Given the description of an element on the screen output the (x, y) to click on. 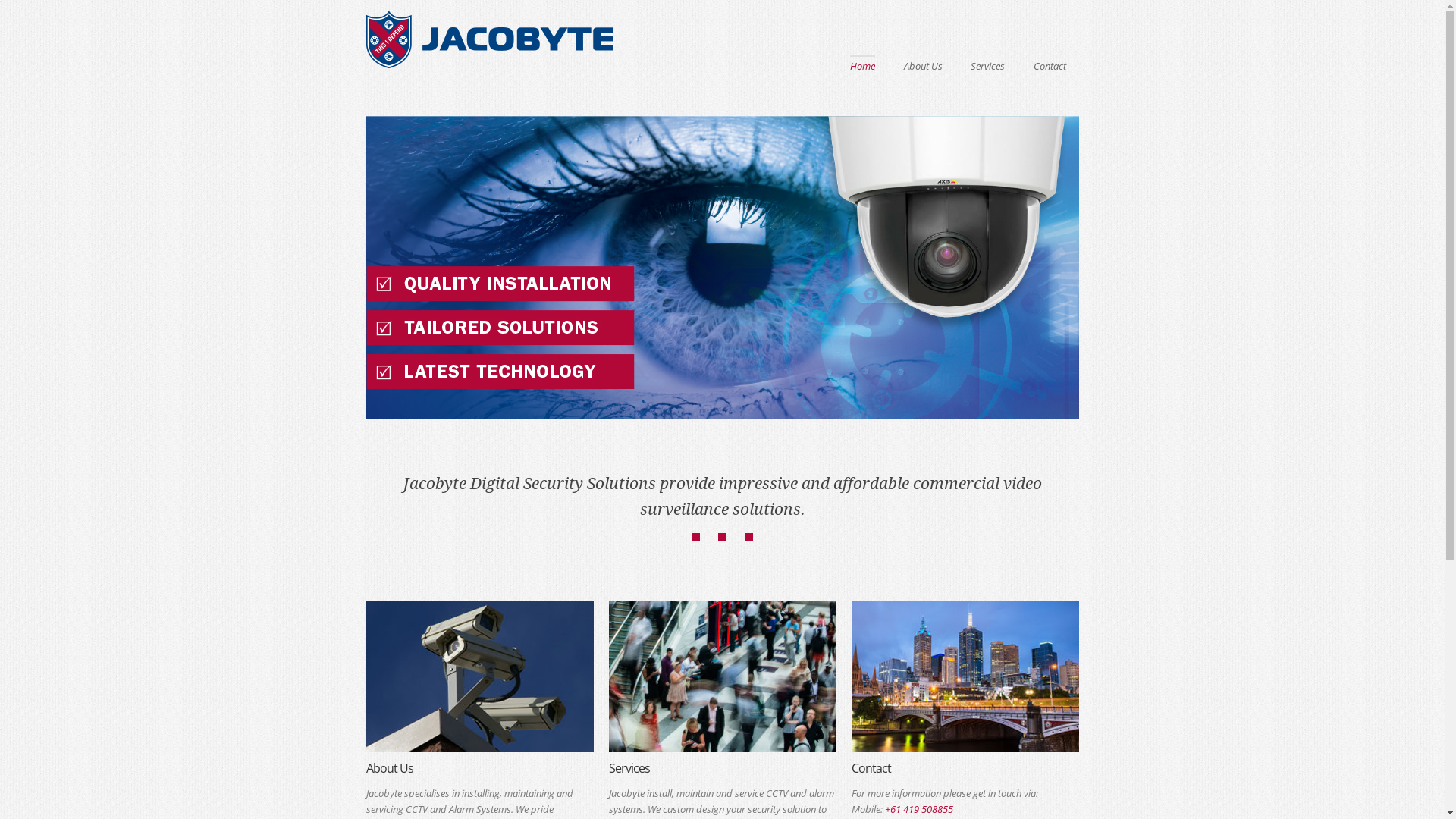
Services Element type: text (987, 64)
About Us Element type: text (922, 64)
Contact Element type: text (1049, 64)
Home Element type: text (862, 63)
Home Element type: hover (488, 63)
+61 419 508855 Element type: text (918, 809)
